Given the description of an element on the screen output the (x, y) to click on. 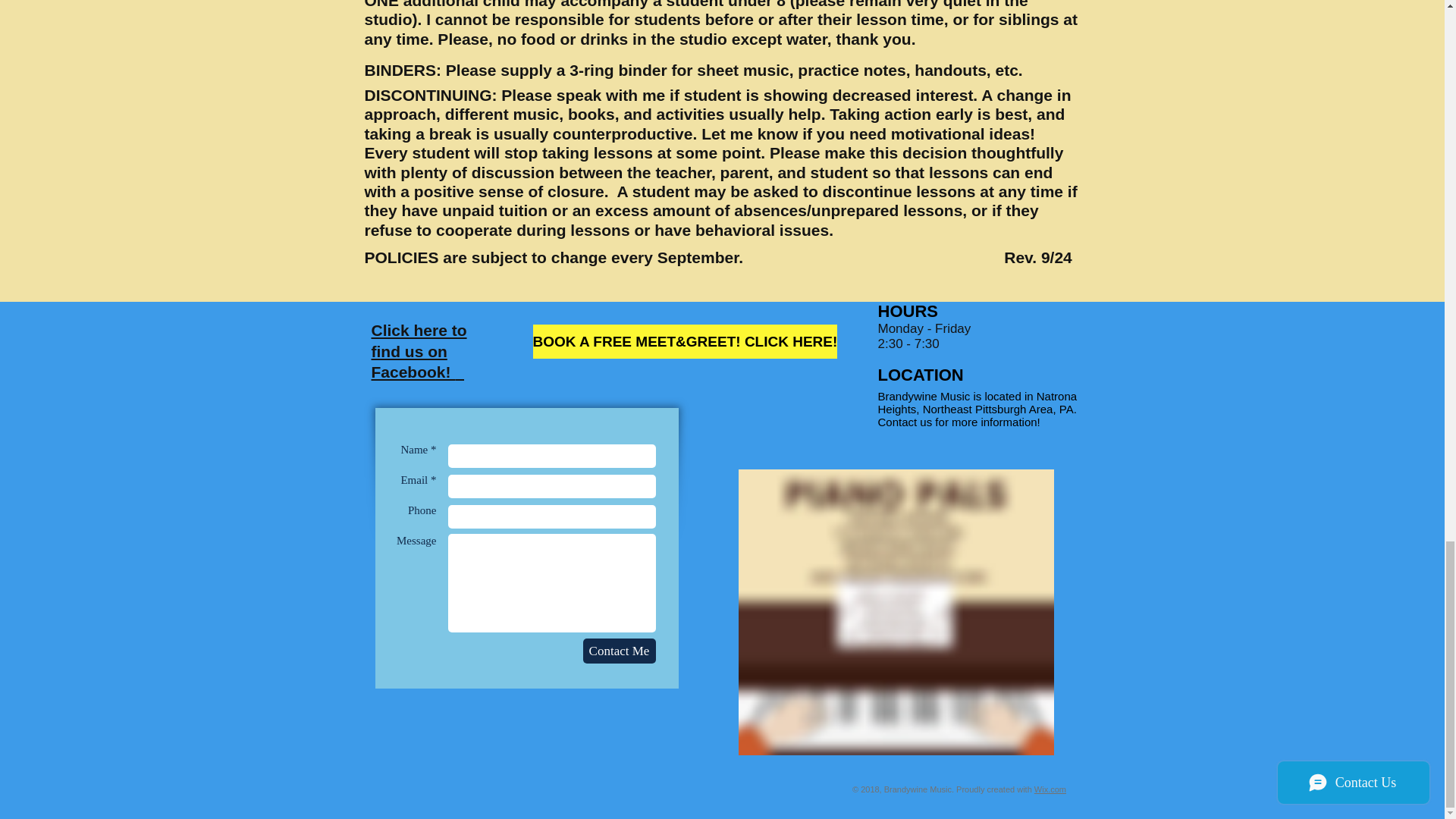
Wix.com (1049, 788)
Click here to find us on Facebook!    (419, 350)
Contact Me (618, 650)
